Given the description of an element on the screen output the (x, y) to click on. 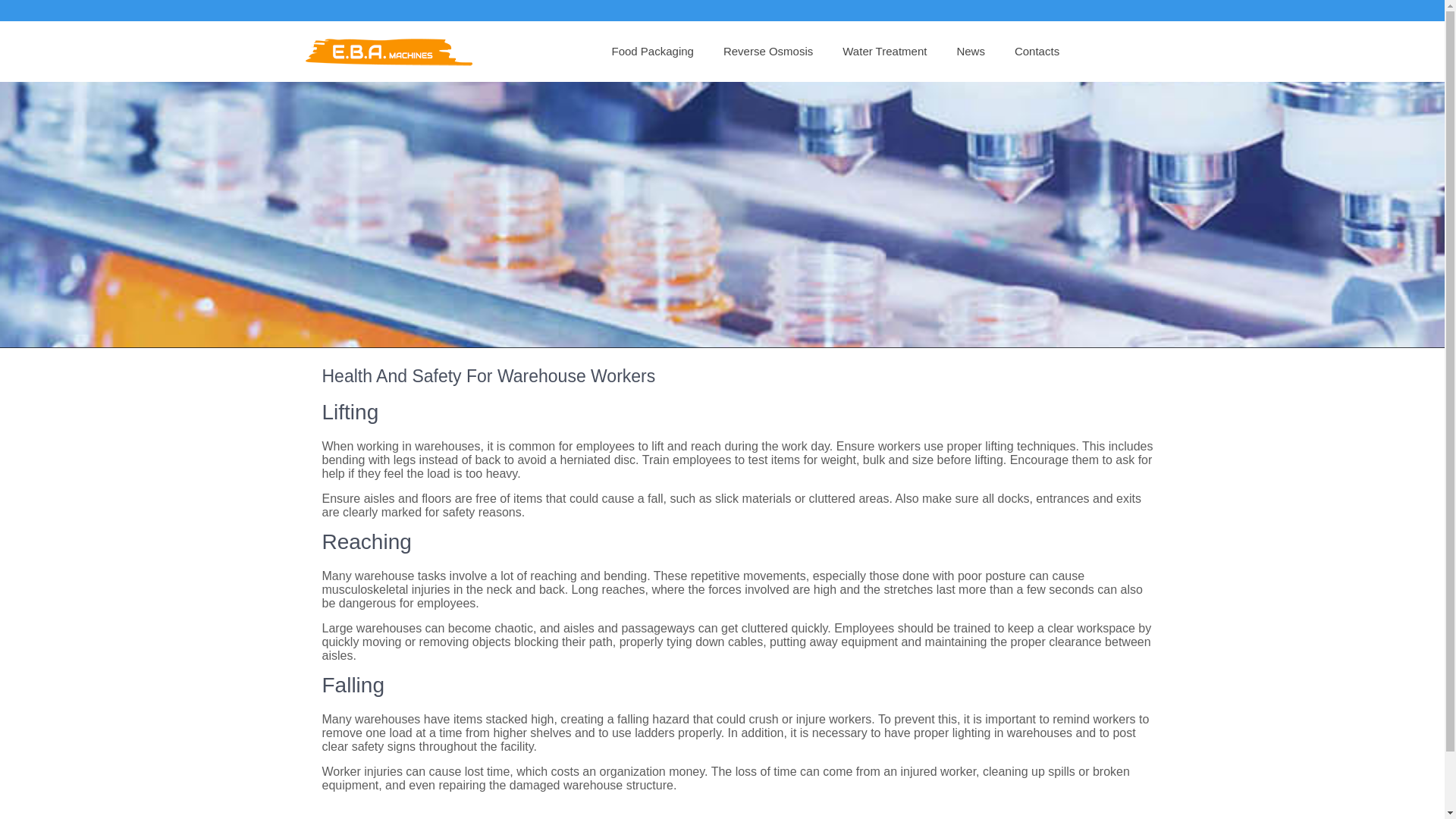
Contacts (1036, 51)
News (970, 51)
Food Packaging (651, 51)
Water Treatment (884, 51)
Reverse Osmosis (767, 51)
